Given the description of an element on the screen output the (x, y) to click on. 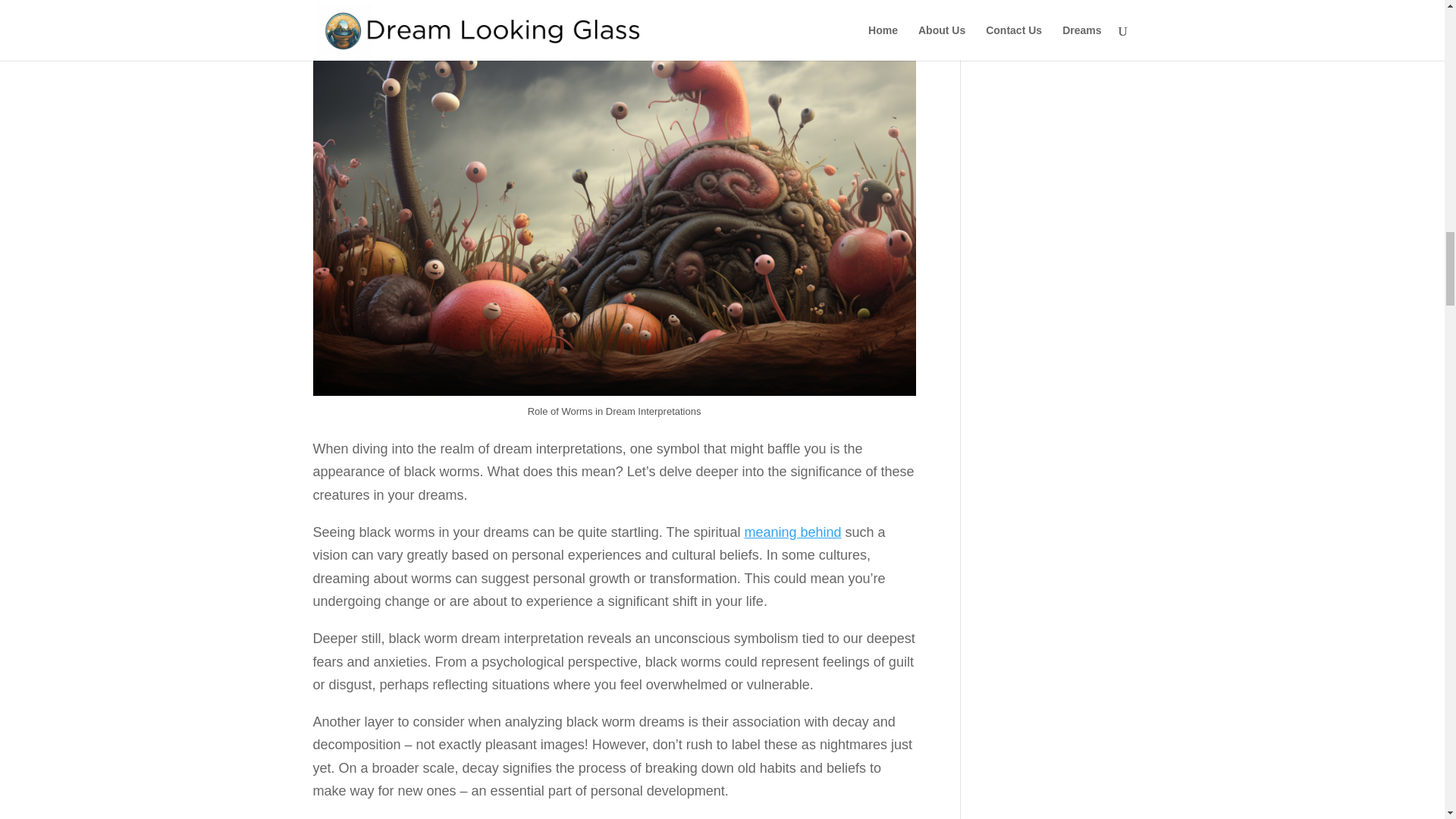
meaning behind (792, 531)
